Given the description of an element on the screen output the (x, y) to click on. 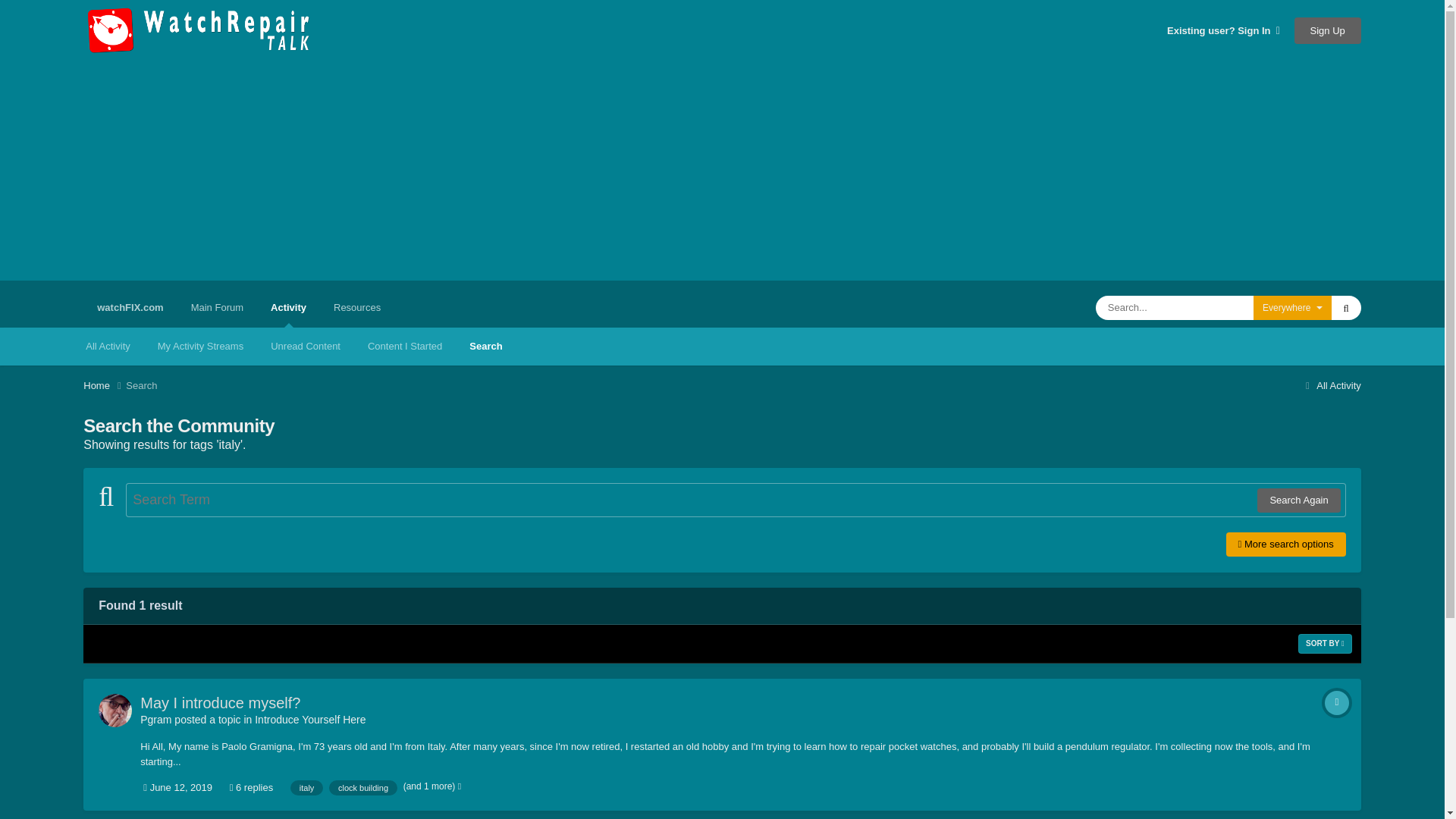
Go to Pgram's profile (155, 719)
Sign Up (1326, 29)
Find other content tagged with 'italy' (306, 787)
My Activity Streams (200, 346)
Go to Pgram's profile (115, 710)
Search (485, 346)
Find other content tagged with 'clock building' (363, 787)
watchFIX.com (129, 307)
Resources (357, 307)
Unread Content (305, 346)
Topic (1336, 702)
Main Forum (217, 307)
Content I Started (404, 346)
Existing user? Sign In   (1223, 30)
